Given the description of an element on the screen output the (x, y) to click on. 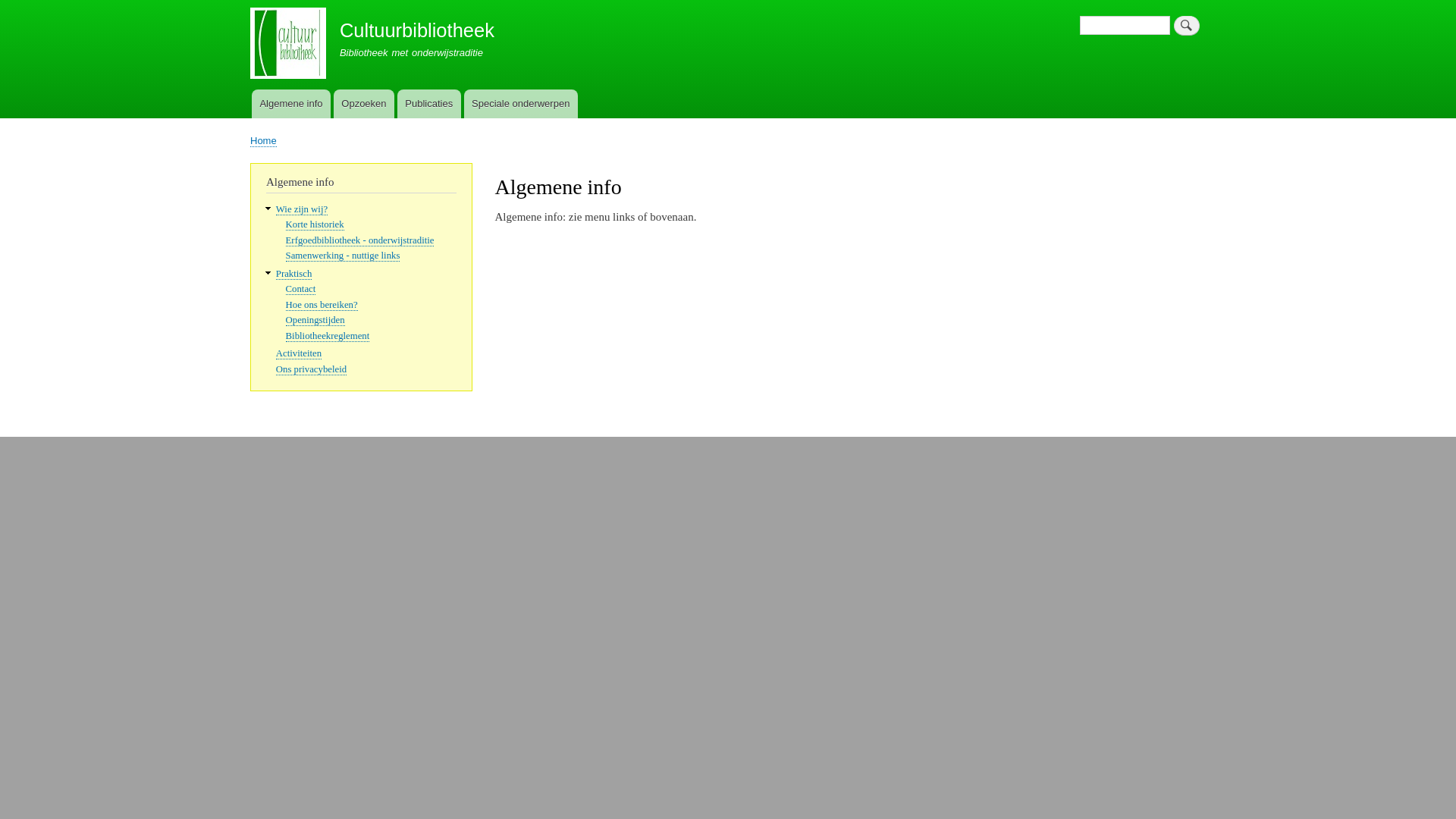
Samenwerking - nuttige links Element type: text (342, 255)
Cultuurbibliotheek Element type: text (416, 29)
Erfgoedbibliotheek - onderwijstraditie Element type: text (359, 240)
Ons privacybeleid Element type: text (311, 369)
Bibliotheekreglement Element type: text (327, 336)
Praktisch Element type: text (294, 273)
Hoe ons bereiken? Element type: text (321, 304)
Wie zijn wij? Element type: text (301, 209)
Publicaties Element type: text (429, 103)
Overslaan en naar de inhoud gaan Element type: text (728, 1)
Algemene info Element type: text (290, 103)
Home Element type: hover (288, 45)
Openingstijden Element type: text (315, 320)
Korte historiek Element type: text (314, 224)
Zoeken Element type: text (1186, 25)
Opzoeken Element type: text (363, 103)
Speciale onderwerpen Element type: text (520, 103)
Activiteiten Element type: text (298, 353)
Geef de woorden op waarnaar u wilt zoeken. Element type: hover (1124, 24)
Contact Element type: text (300, 288)
Home Element type: text (263, 140)
